Given the description of an element on the screen output the (x, y) to click on. 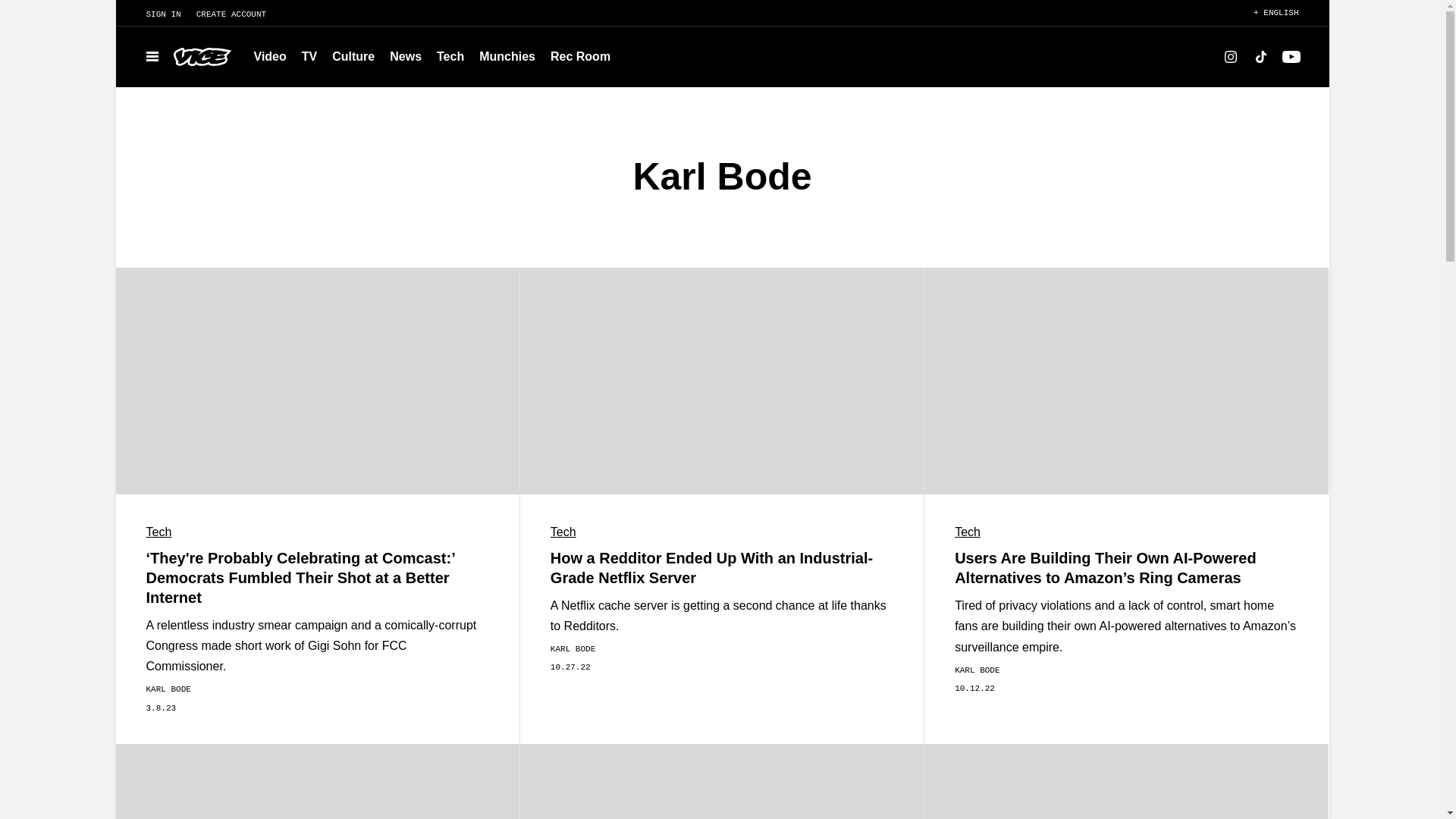
Munchies (507, 56)
Tech (450, 56)
Rec Room (580, 56)
Culture (352, 56)
SIGN IN (155, 13)
TV (309, 56)
Video (270, 56)
News (405, 56)
CREATE ACCOUNT (238, 13)
